Given the description of an element on the screen output the (x, y) to click on. 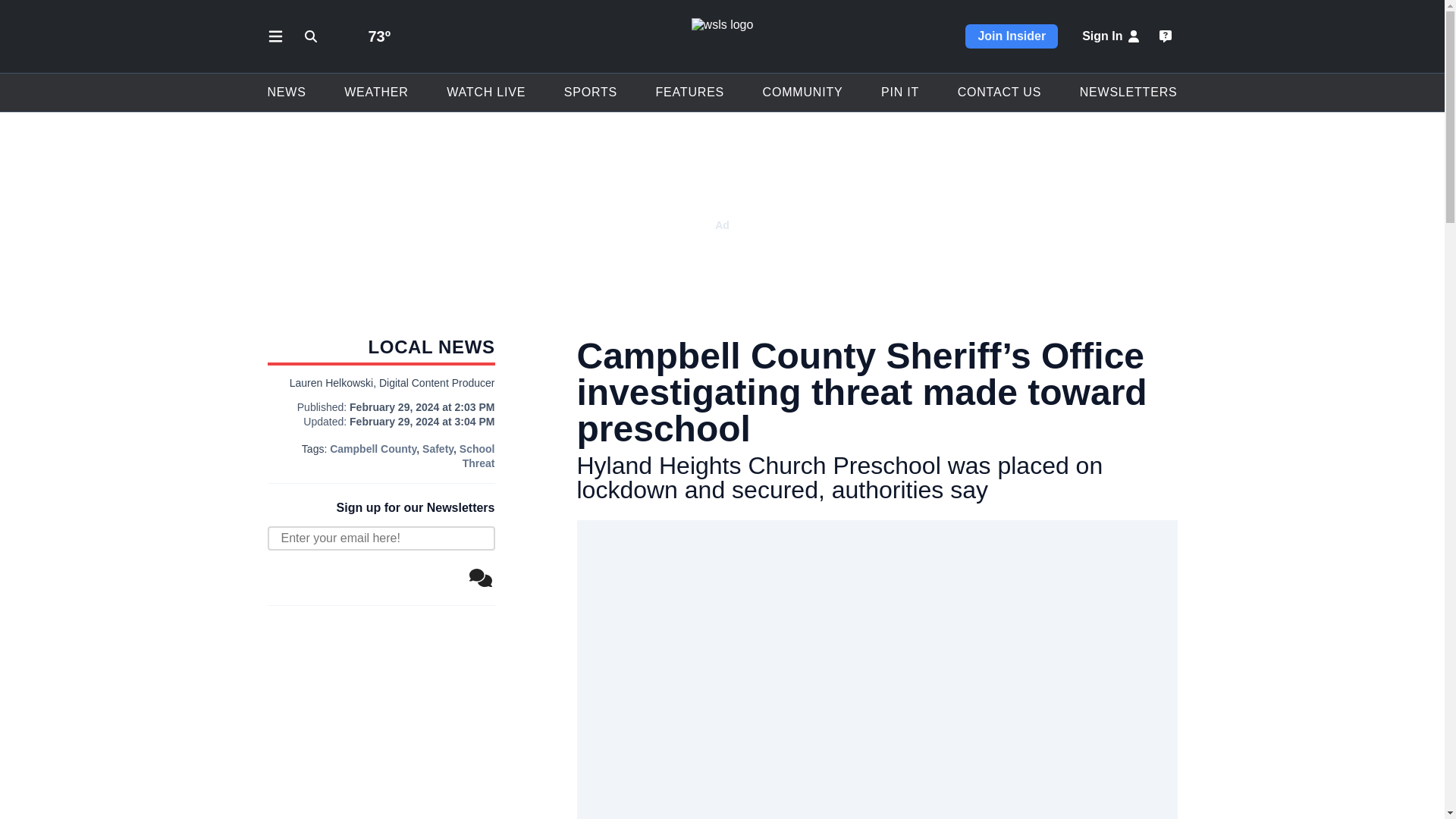
Sign In (1111, 36)
Join Insider (1011, 36)
